Given the description of an element on the screen output the (x, y) to click on. 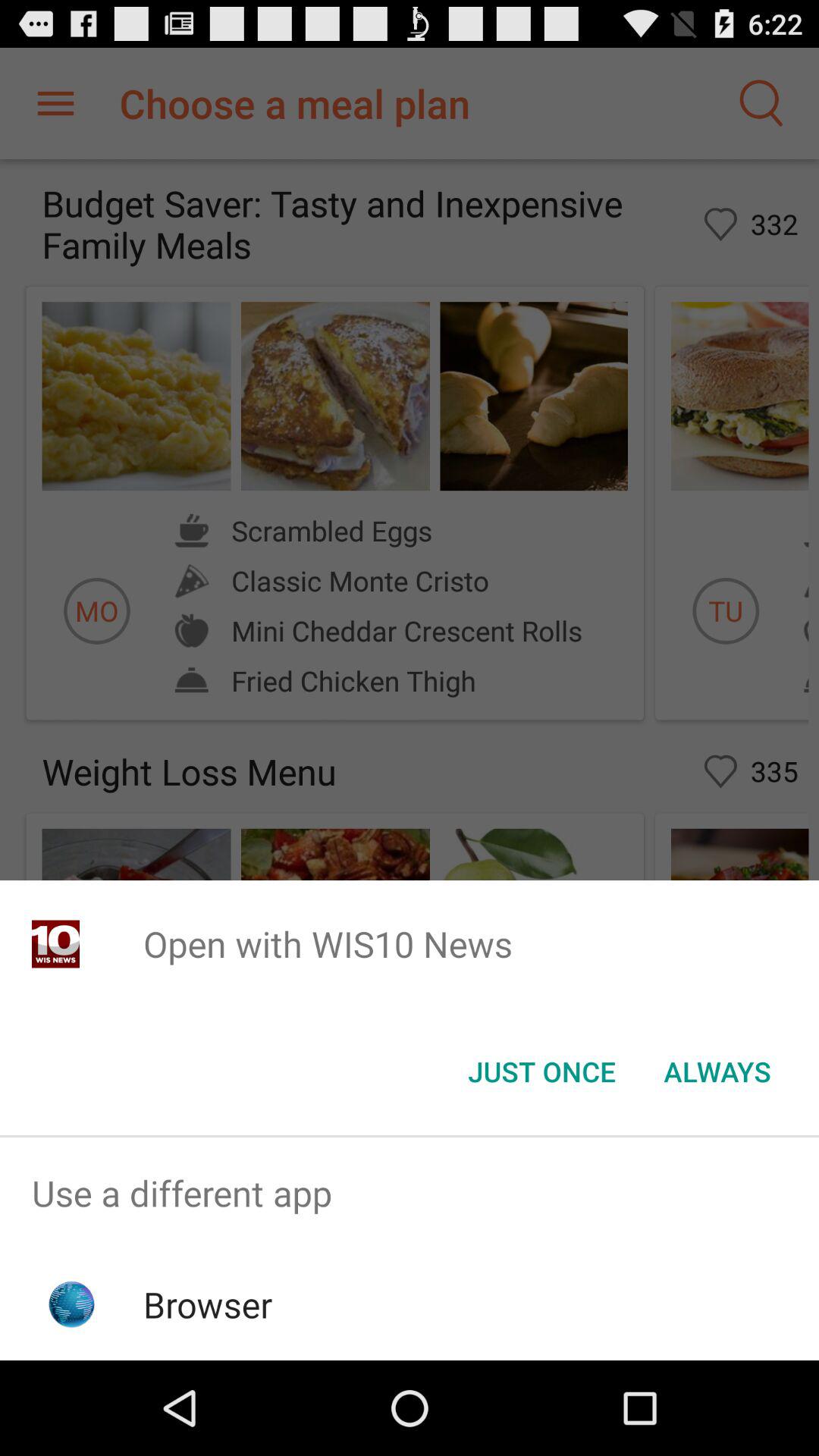
select the icon below the open with wis10 app (541, 1071)
